Given the description of an element on the screen output the (x, y) to click on. 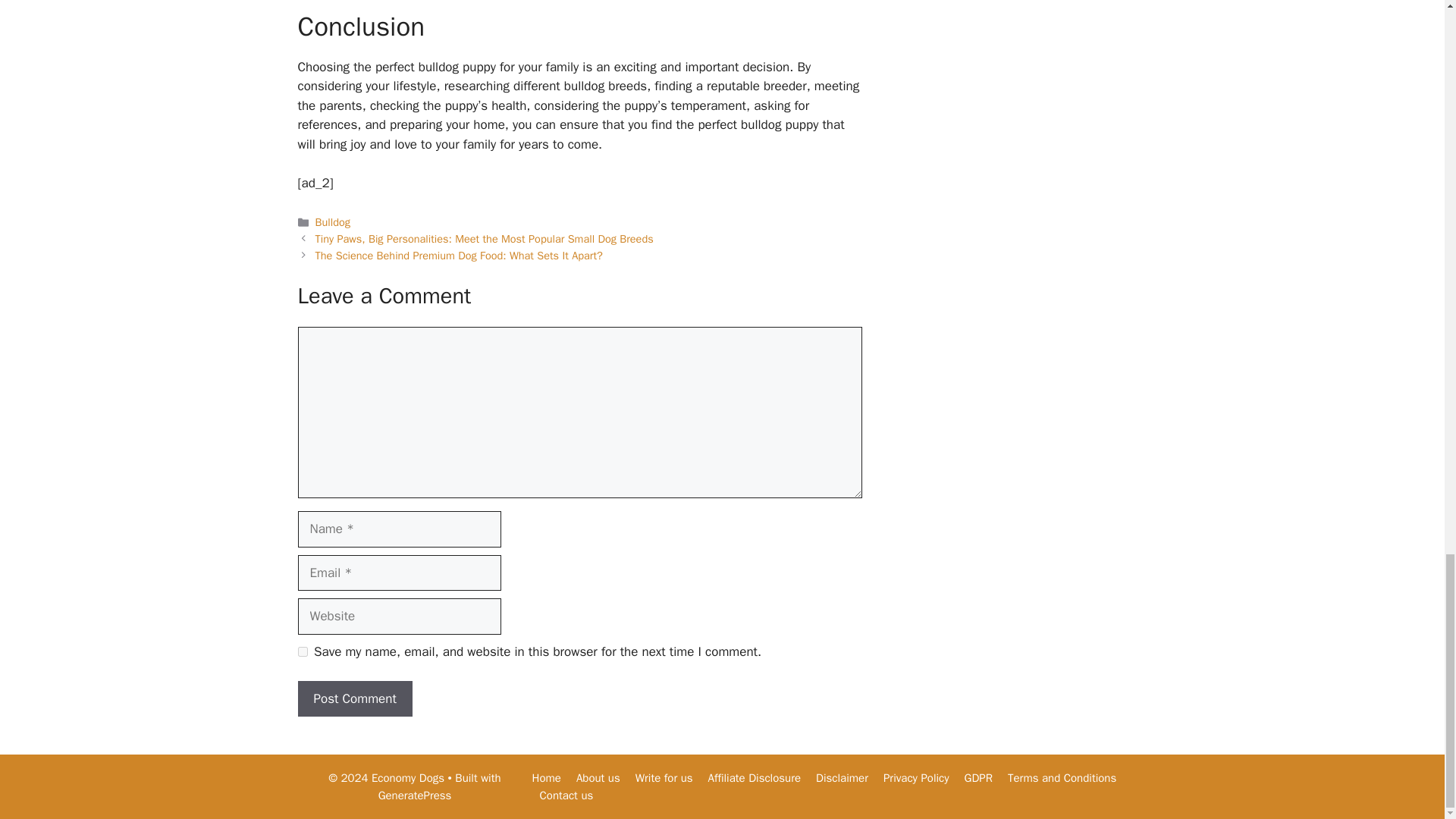
Affiliate Disclosure (754, 777)
Contact us (567, 795)
yes (302, 651)
Home (546, 777)
GDPR (977, 777)
Post Comment (354, 698)
About us (598, 777)
The Science Behind Premium Dog Food: What Sets It Apart? (458, 255)
Post Comment (354, 698)
Privacy Policy (916, 777)
